Given the description of an element on the screen output the (x, y) to click on. 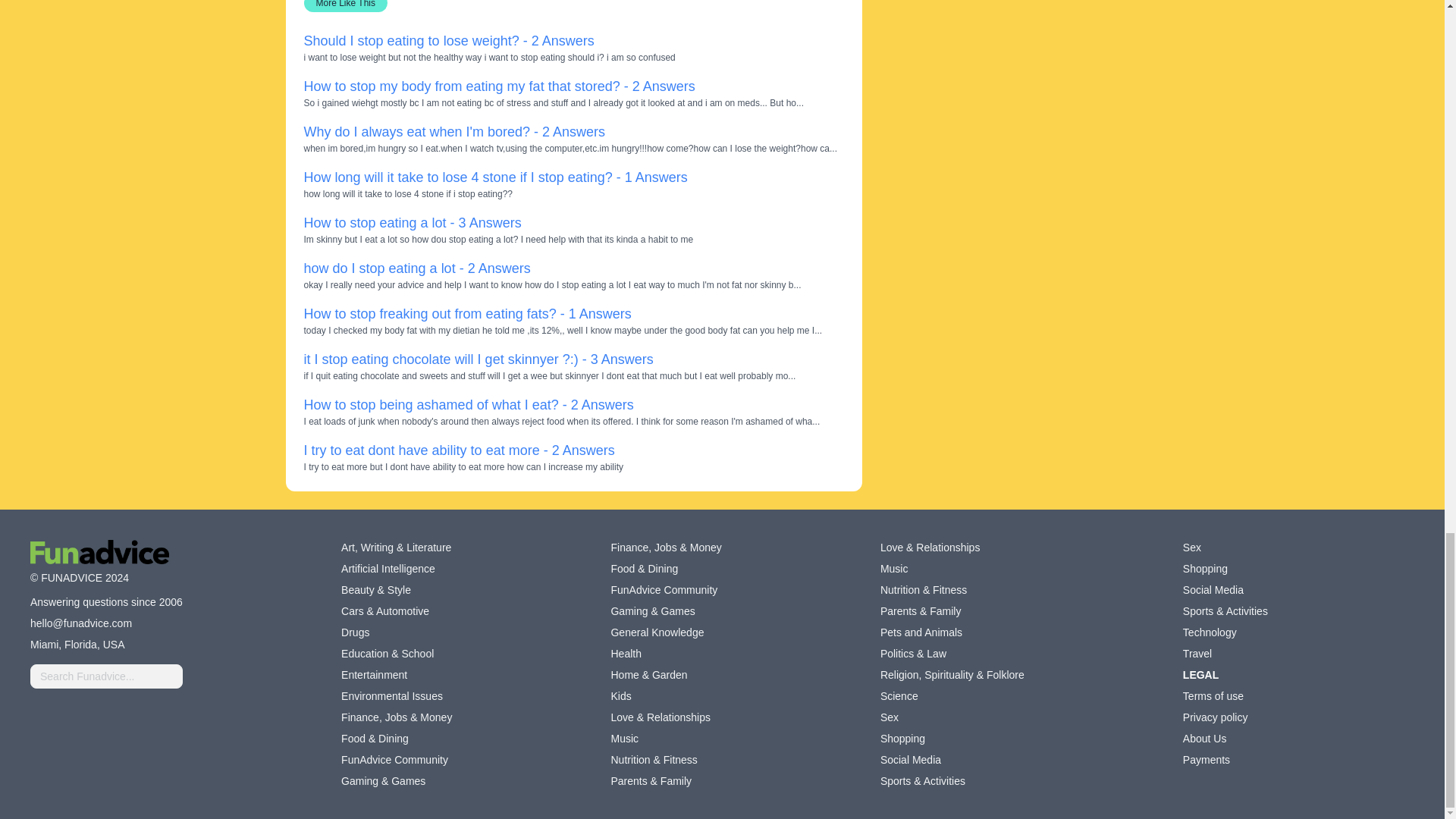
Entertainment (373, 674)
How to stop being ashamed of what I eat? - 2 Answers (467, 404)
Should I stop eating to lose weight? - 2 Answers (448, 40)
Artificial Intelligence (387, 568)
Why do I always eat when I'm bored? - 2 Answers (453, 131)
how do I stop eating a lot - 2 Answers (415, 268)
I try to eat dont have ability to eat more - 2 Answers (458, 450)
Drugs (354, 631)
How to stop eating a lot - 3 Answers (411, 222)
How to stop freaking out from eating fats? - 1 Answers (466, 313)
